Given the description of an element on the screen output the (x, y) to click on. 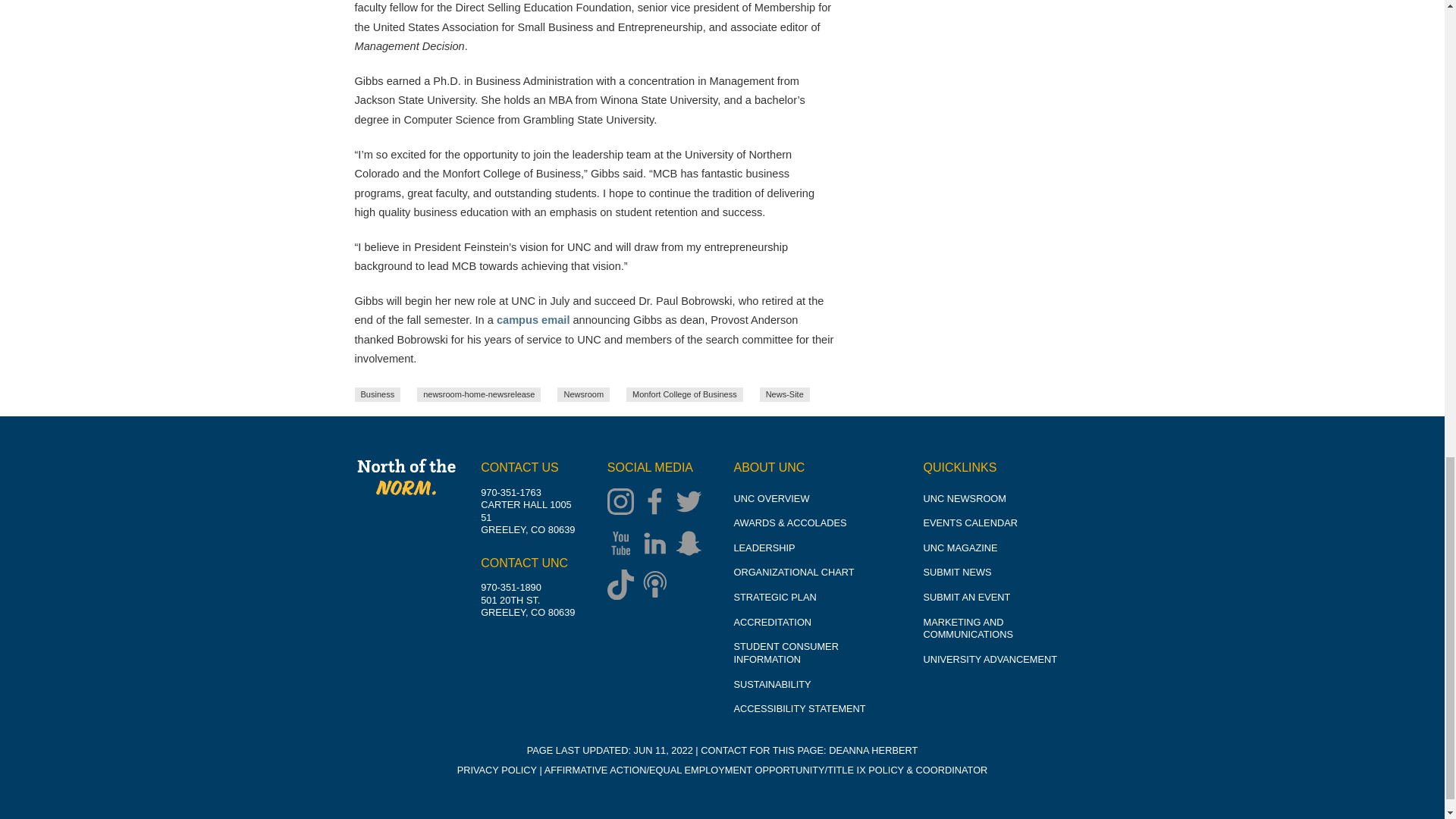
TikTok (624, 586)
Snapchat (692, 544)
LinkedIn (658, 544)
Twitter (692, 503)
YouTube (624, 544)
Bear in Mind Podcast (658, 586)
Facebook (658, 503)
Instagram (624, 503)
